Given the description of an element on the screen output the (x, y) to click on. 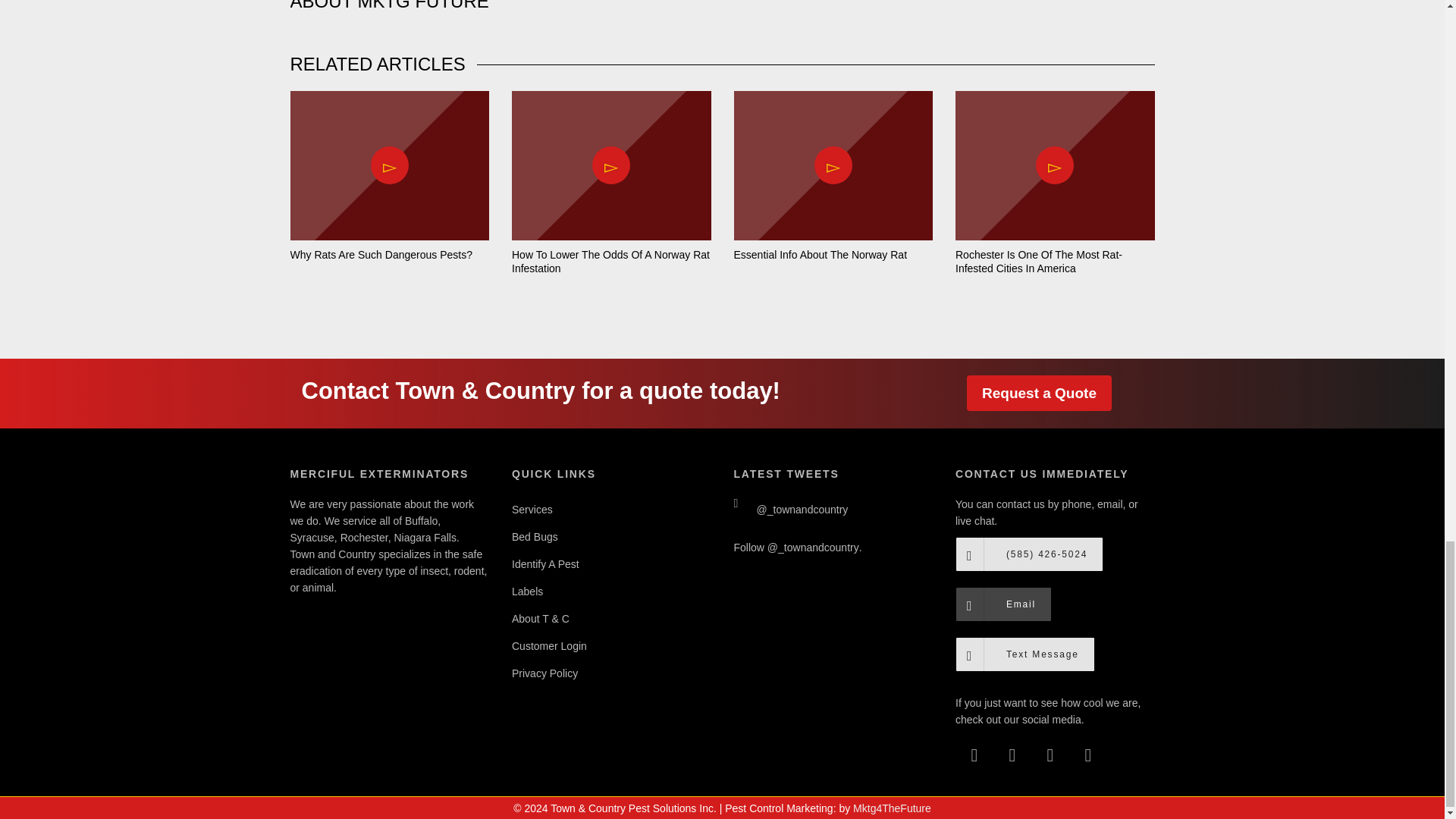
Permanent Link to Why Rats Are Such Dangerous Pests? (380, 254)
Services (611, 509)
Permanent Link to Essential Info About The Norway Rat (820, 254)
